Given the description of an element on the screen output the (x, y) to click on. 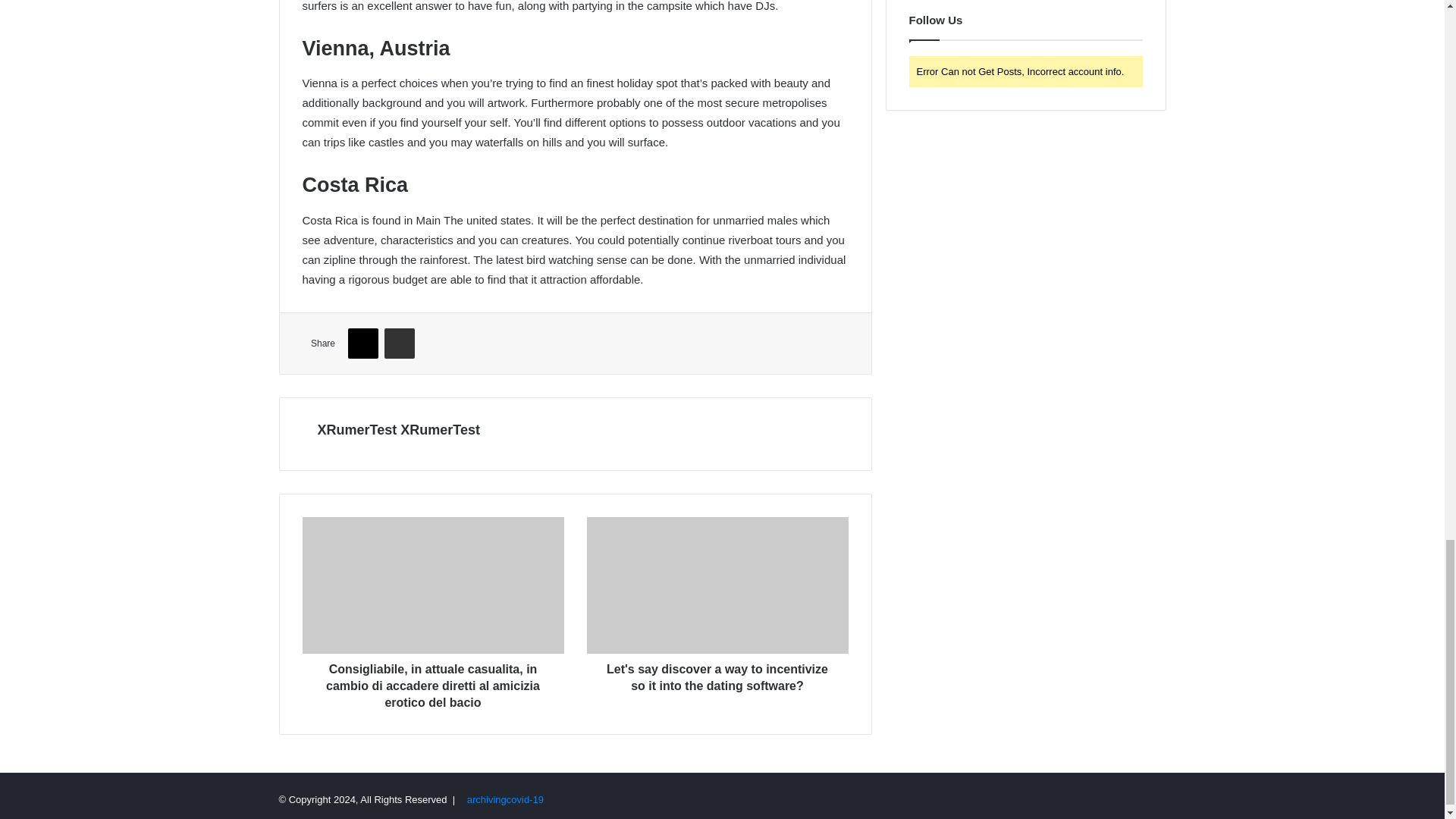
Share via Email (399, 343)
X (362, 343)
Share via Email (399, 343)
X (362, 343)
XRumerTest XRumerTest (398, 429)
